Given the description of an element on the screen output the (x, y) to click on. 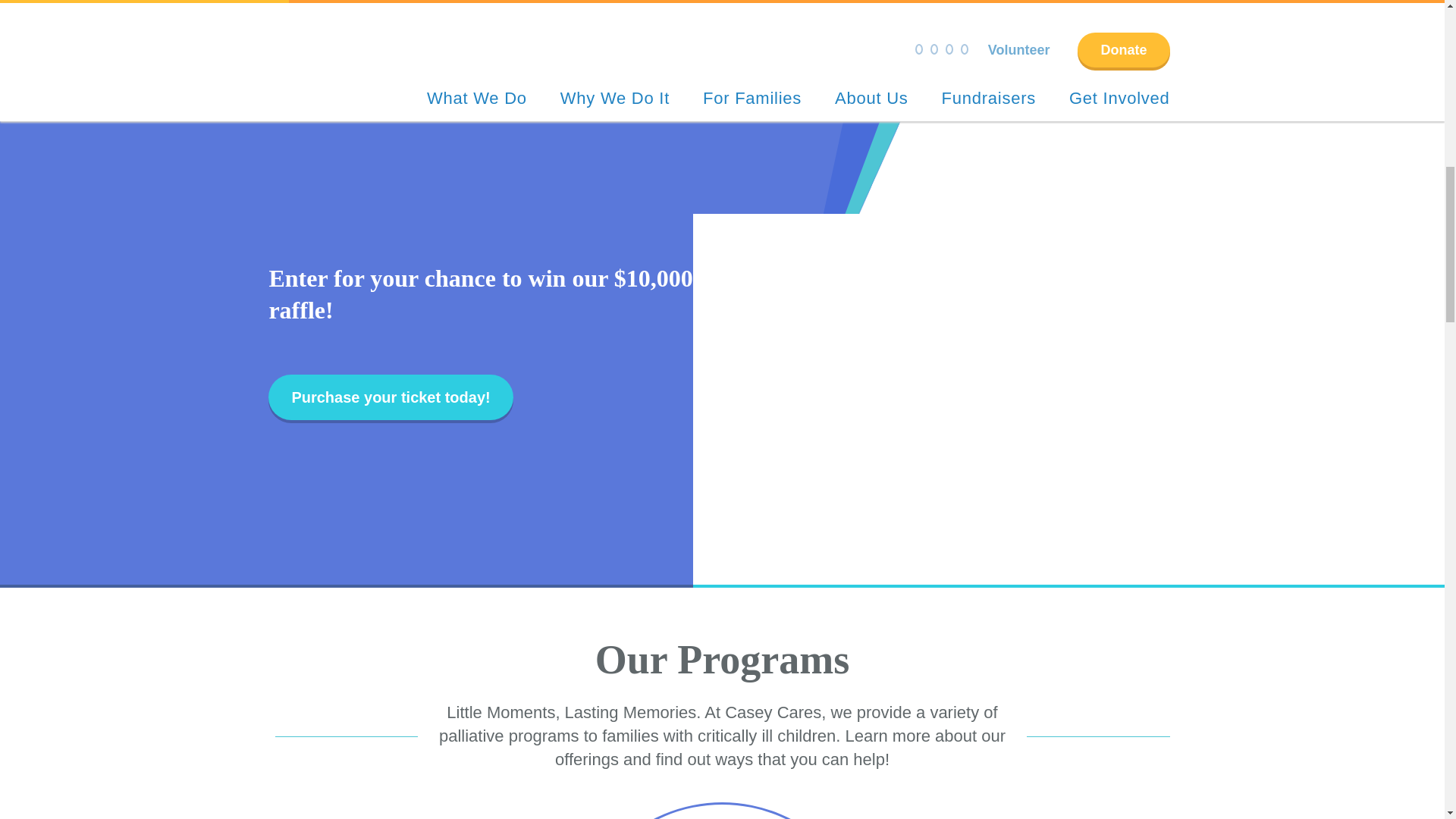
Fundraisers (988, 97)
How We Can Help Families With Critically Ill Kids (752, 97)
For Families (752, 97)
What We Do (476, 97)
Volunteer (1018, 49)
About Us (871, 97)
Programs We Offer To Families With Critically Ill Kids (476, 97)
Helping Families With Critically Ill Kids Enjoy Childhood (614, 97)
Donate (1123, 49)
Why We Do It (614, 97)
